Given the description of an element on the screen output the (x, y) to click on. 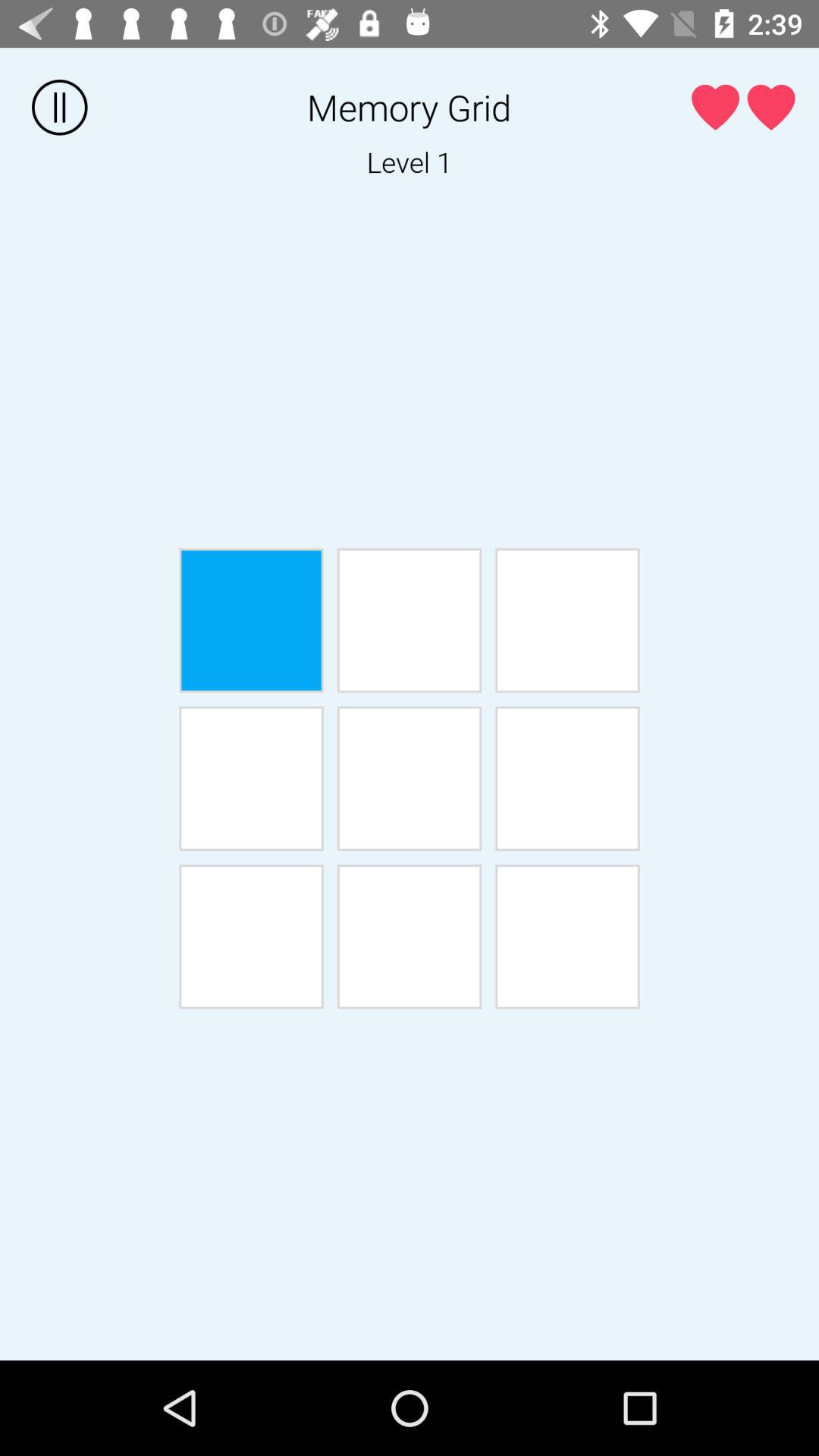
click to reveal (251, 936)
